Given the description of an element on the screen output the (x, y) to click on. 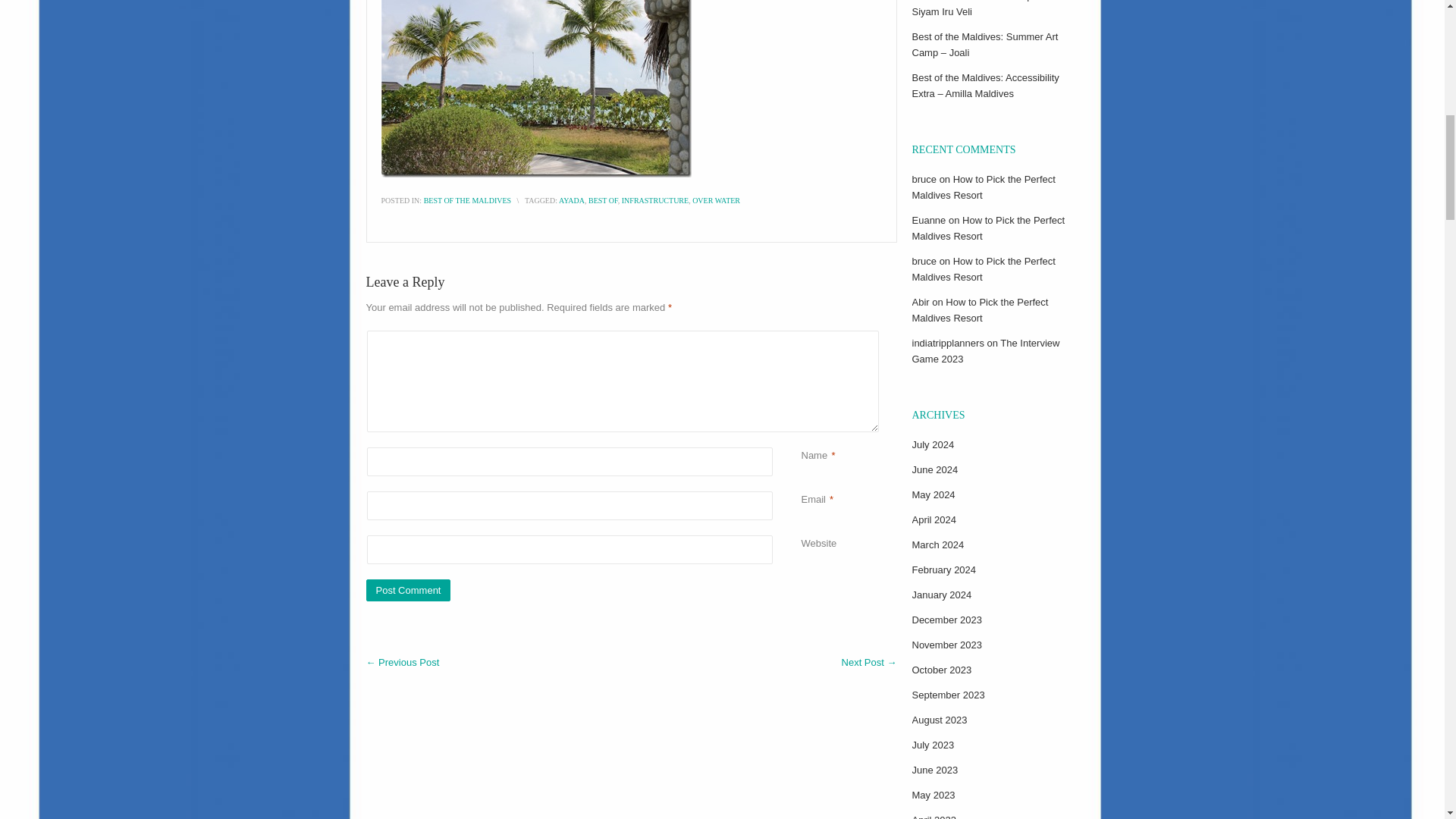
BEST OF THE MALDIVES (467, 200)
OVER WATER (716, 200)
How to Pick the Perfect Maldives Resort (987, 227)
Post Comment (407, 590)
AYADA (572, 200)
Post Comment (407, 590)
How to Pick the Perfect Maldives Resort (982, 186)
How to Pick the Perfect Maldives Resort (982, 268)
How to Pick the Perfect Maldives Resort (979, 309)
Ayada - villa island 2 (535, 88)
July 2024 (932, 444)
BEST OF (602, 200)
The Interview Game 2023 (985, 350)
INFRASTRUCTURE (654, 200)
